Given the description of an element on the screen output the (x, y) to click on. 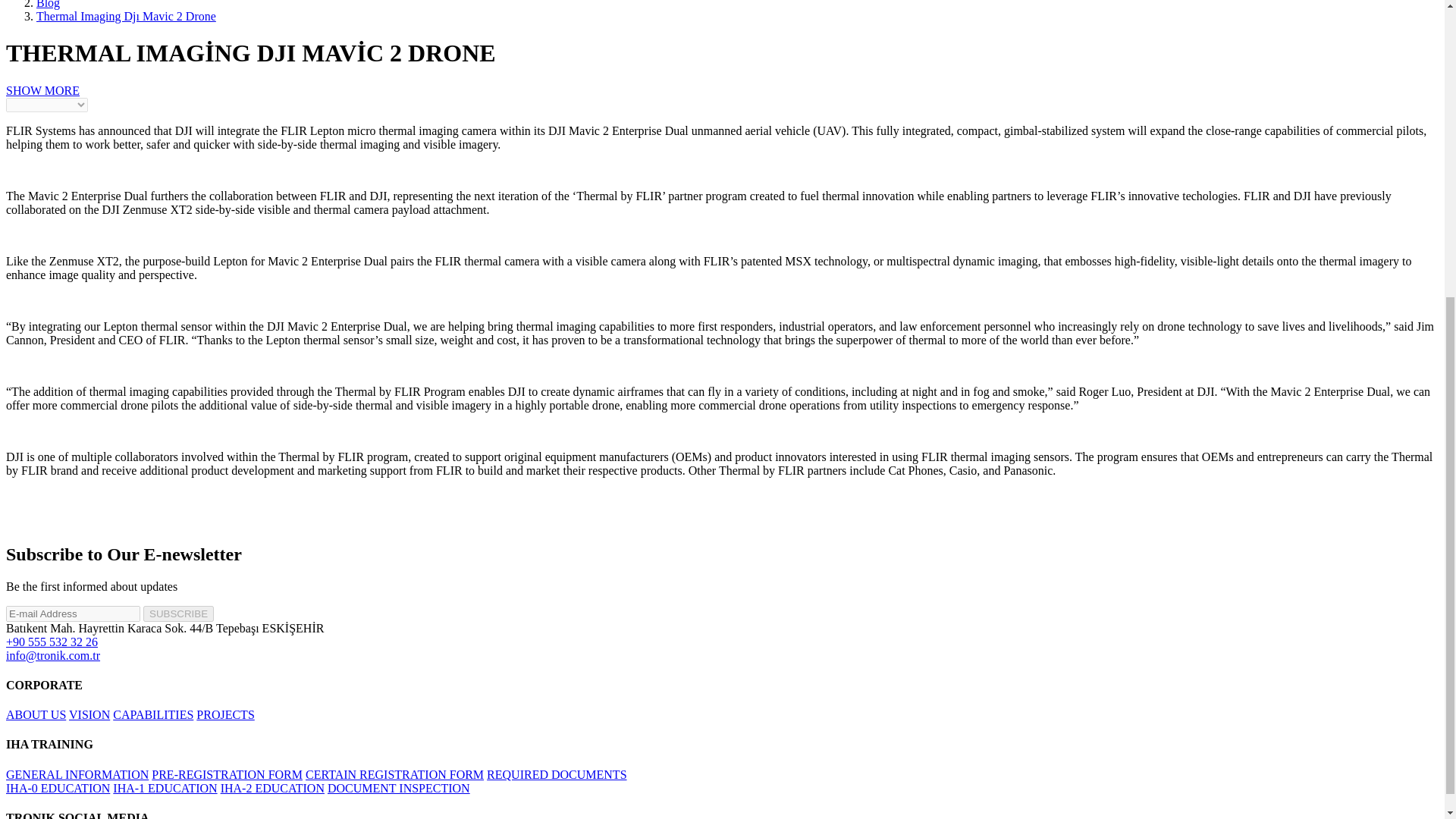
Blog (47, 4)
